Given the description of an element on the screen output the (x, y) to click on. 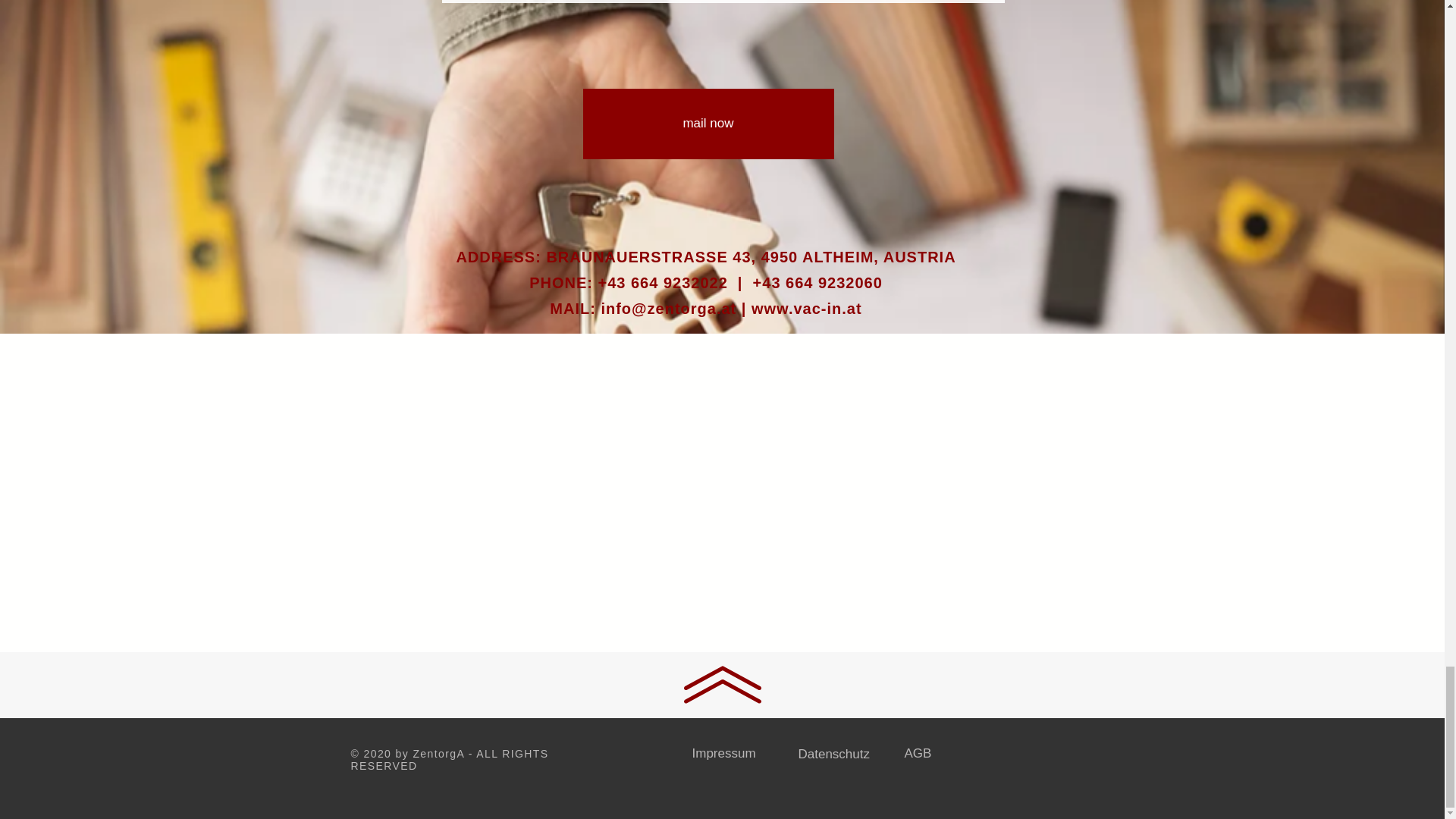
Impressum (723, 753)
mail now (707, 122)
www.vac-in.at (806, 308)
